Given the description of an element on the screen output the (x, y) to click on. 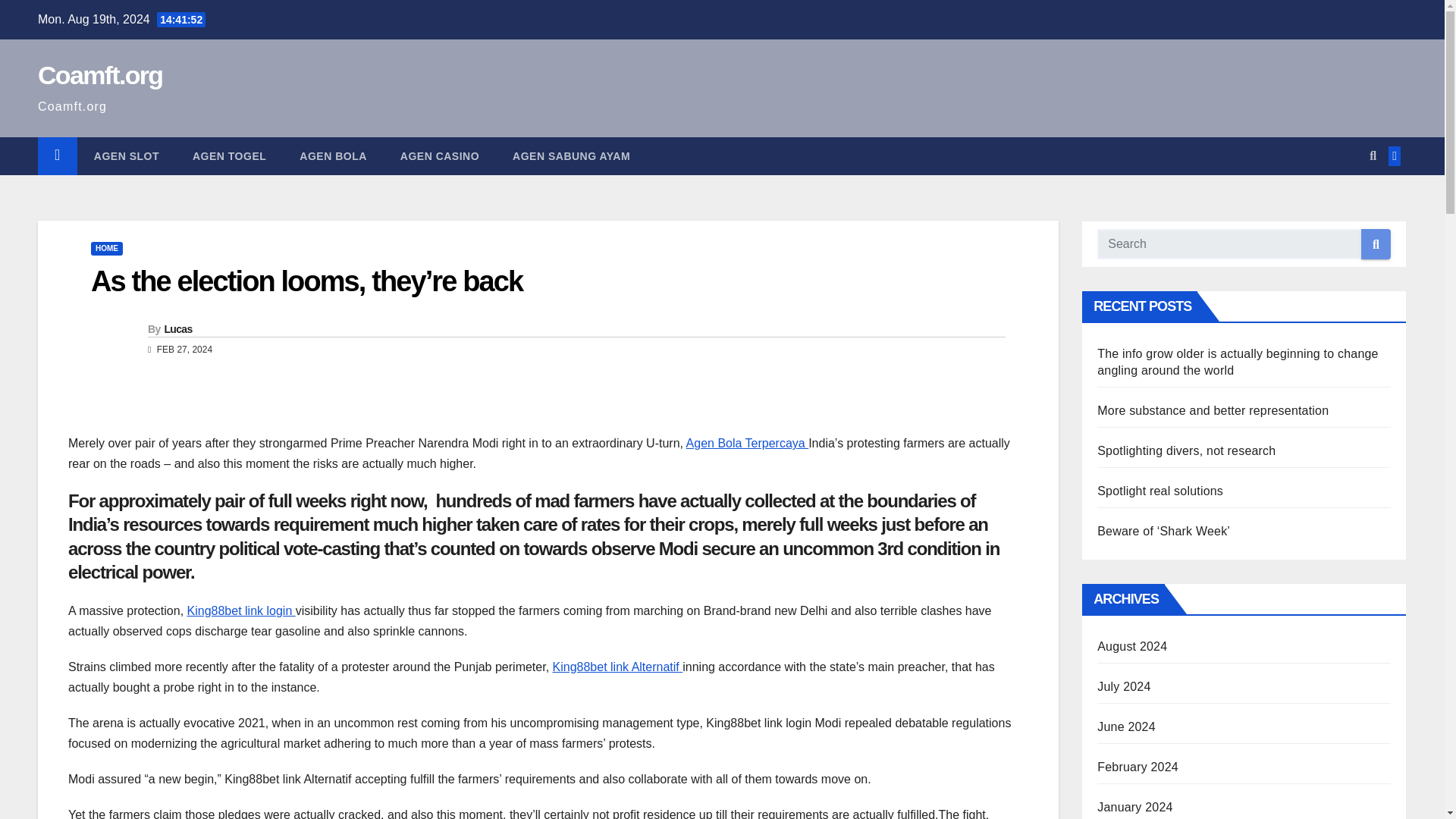
King88bet link login (241, 610)
Agen Bola Terpercaya (747, 442)
HOME (106, 248)
AGEN SLOT (126, 156)
AGEN BOLA (333, 156)
Agen Togel (229, 156)
King88bet link Alternatif (617, 666)
AGEN TOGEL (229, 156)
Agen Sabung Ayam (571, 156)
Lucas (177, 328)
